Given the description of an element on the screen output the (x, y) to click on. 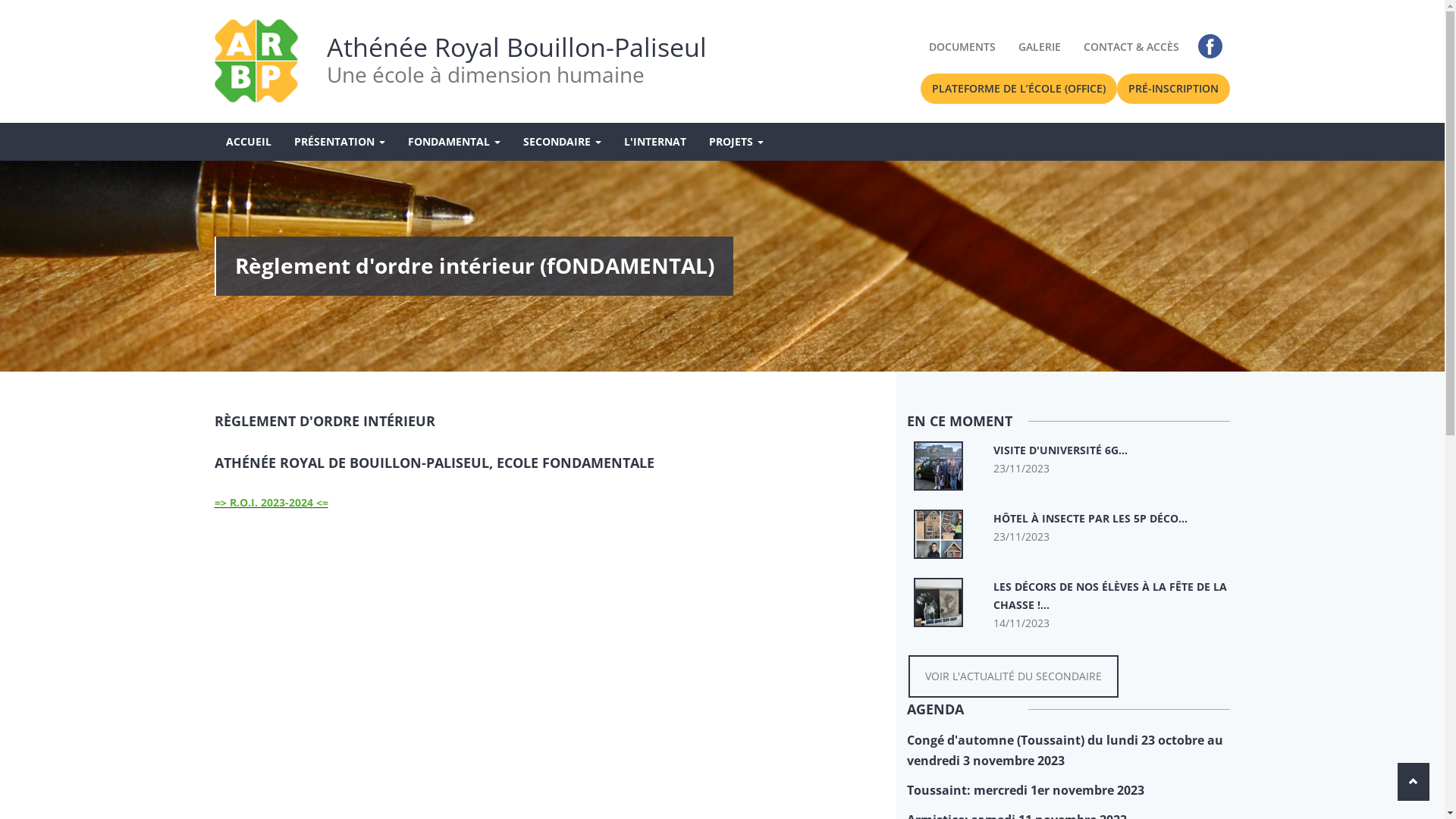
DOCUMENTS Element type: text (962, 46)
FONDAMENTAL Element type: text (453, 141)
Facebook Element type: hover (1210, 46)
SECONDAIRE Element type: text (561, 141)
PROJETS Element type: text (736, 141)
=> R.O.I. 2023-2024 <= Element type: text (270, 502)
ACCUEIL Element type: text (247, 141)
L'INTERNAT Element type: text (654, 141)
GALERIE Element type: text (1039, 46)
top Element type: hover (1413, 781)
